Given the description of an element on the screen output the (x, y) to click on. 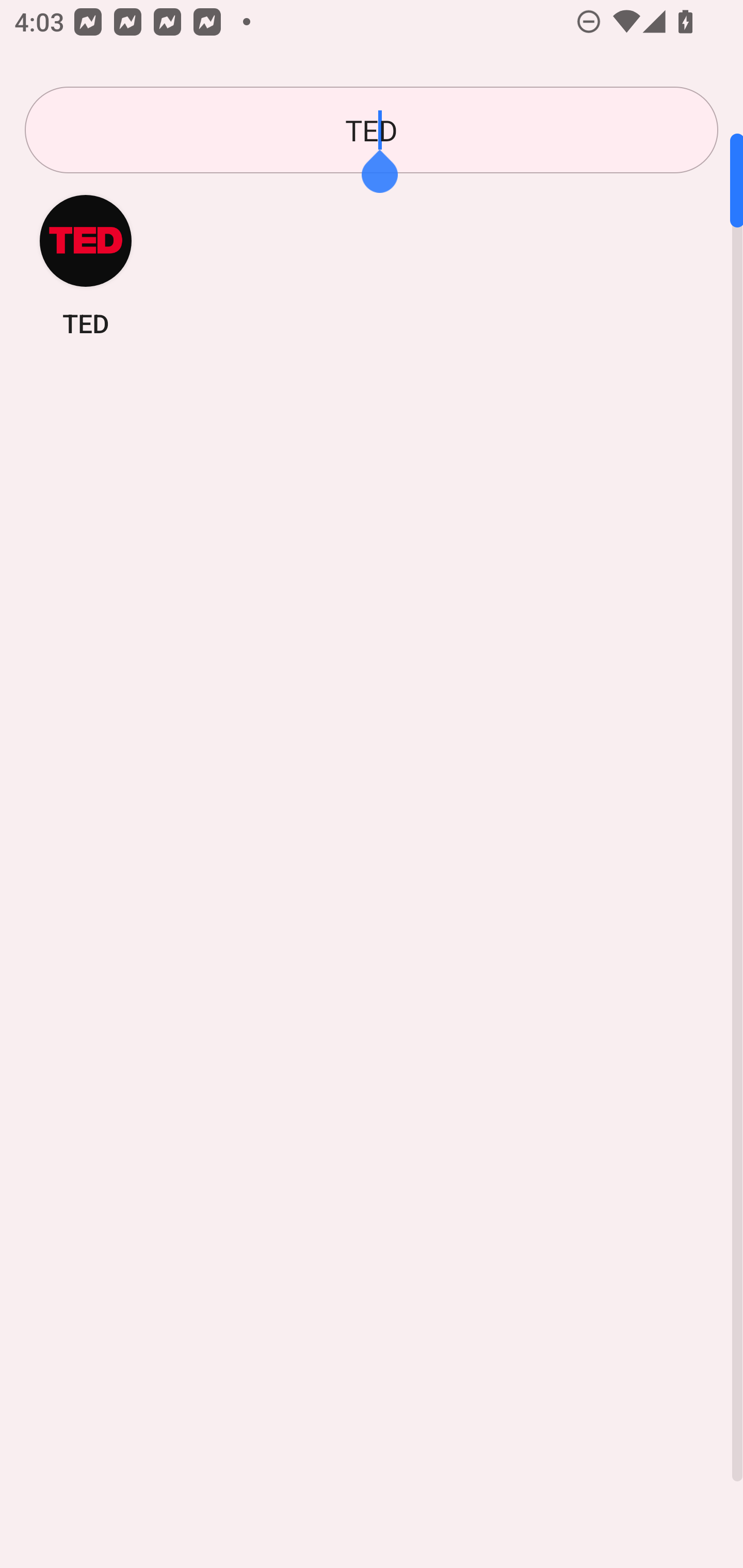
TED (371, 130)
TED (85, 264)
